Given the description of an element on the screen output the (x, y) to click on. 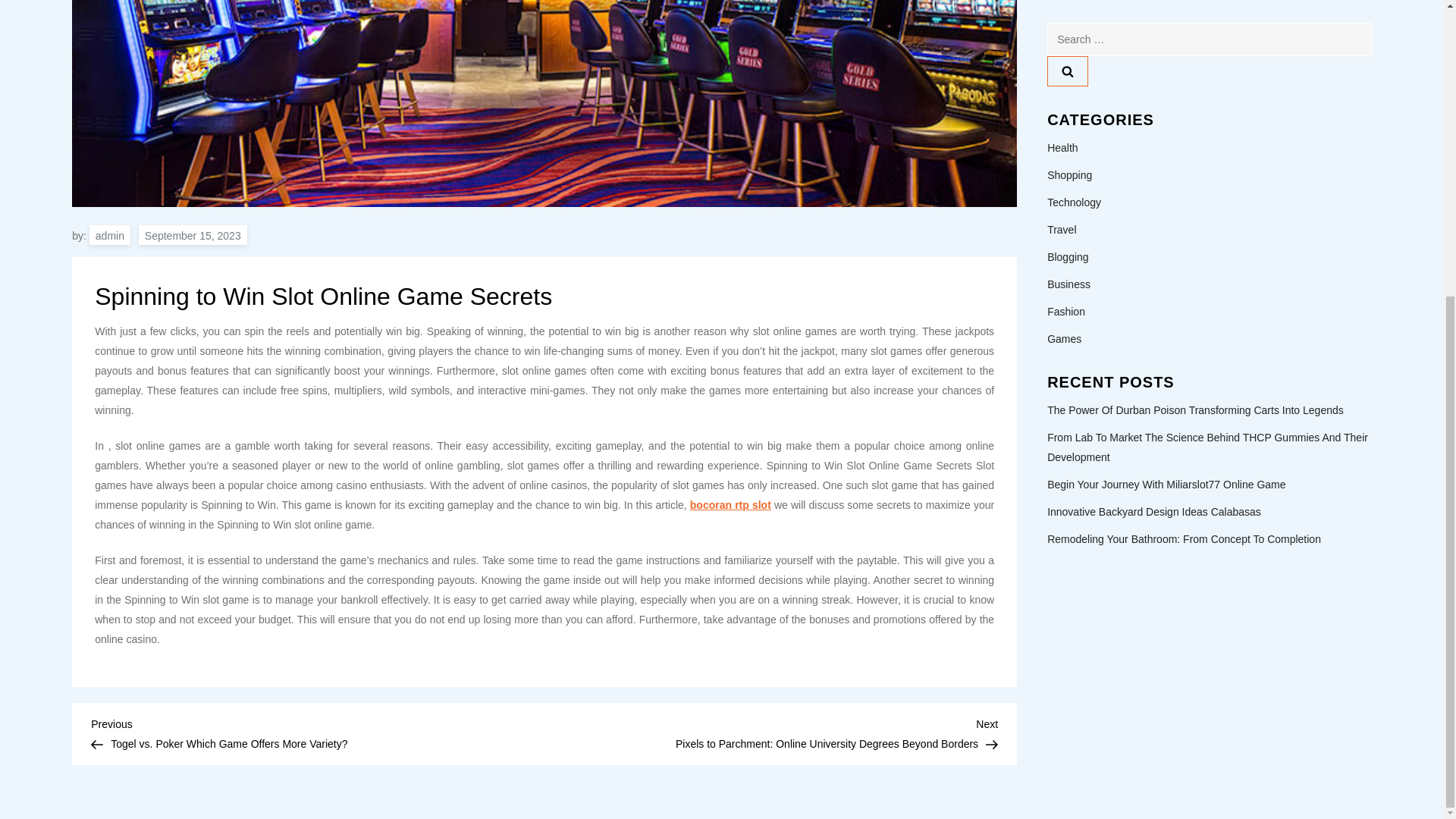
admin (109, 234)
The Power Of Durban Poison Transforming Carts Into Legends (1194, 134)
Remodeling Your Bathroom: From Concept To Completion (1183, 263)
Business (1068, 9)
bocoran rtp slot (730, 504)
Innovative Backyard Design Ideas Calabasas (1153, 236)
Fashion (1065, 35)
Begin Your Journey With Miliarslot77 Online Game (1165, 209)
Games (1063, 63)
September 15, 2023 (192, 234)
